Given the description of an element on the screen output the (x, y) to click on. 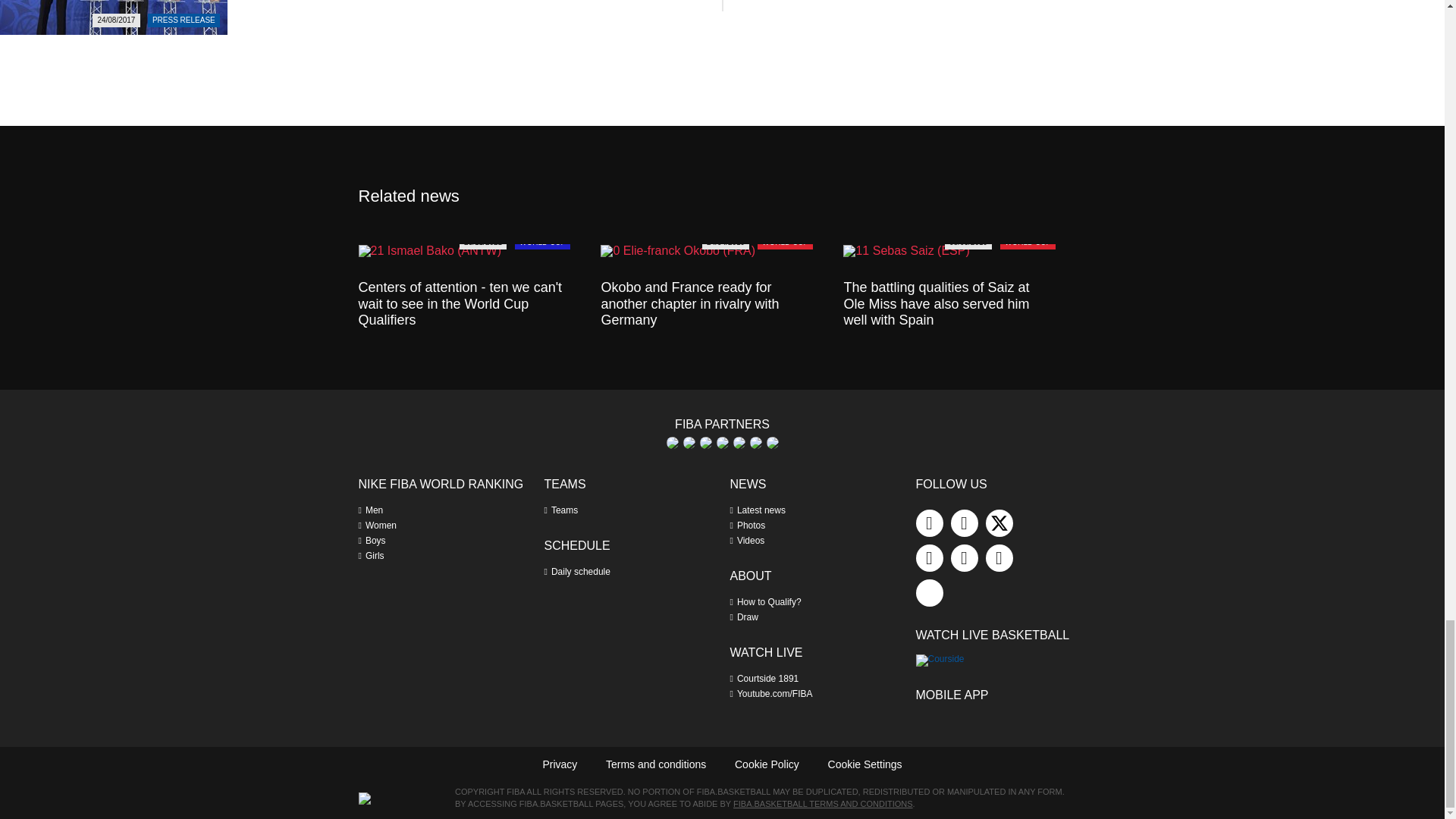
Ganten (688, 442)
Molten BG5000 Special Website (704, 442)
Nike (722, 442)
TCL (738, 442)
Tissot (755, 442)
BG (671, 442)
Wanda Group (771, 442)
